Given the description of an element on the screen output the (x, y) to click on. 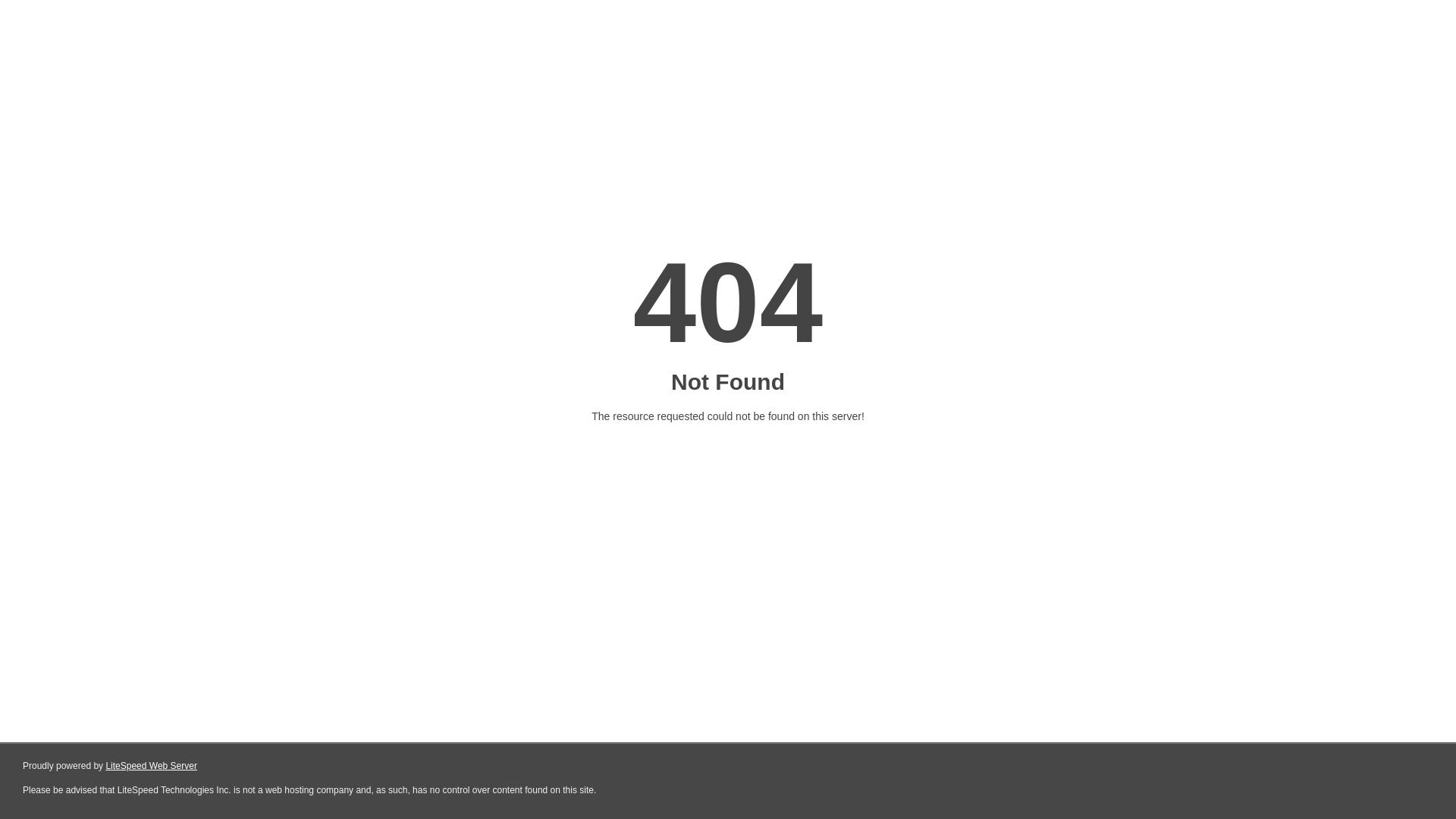
LiteSpeed Web Server Element type: text (151, 765)
